Given the description of an element on the screen output the (x, y) to click on. 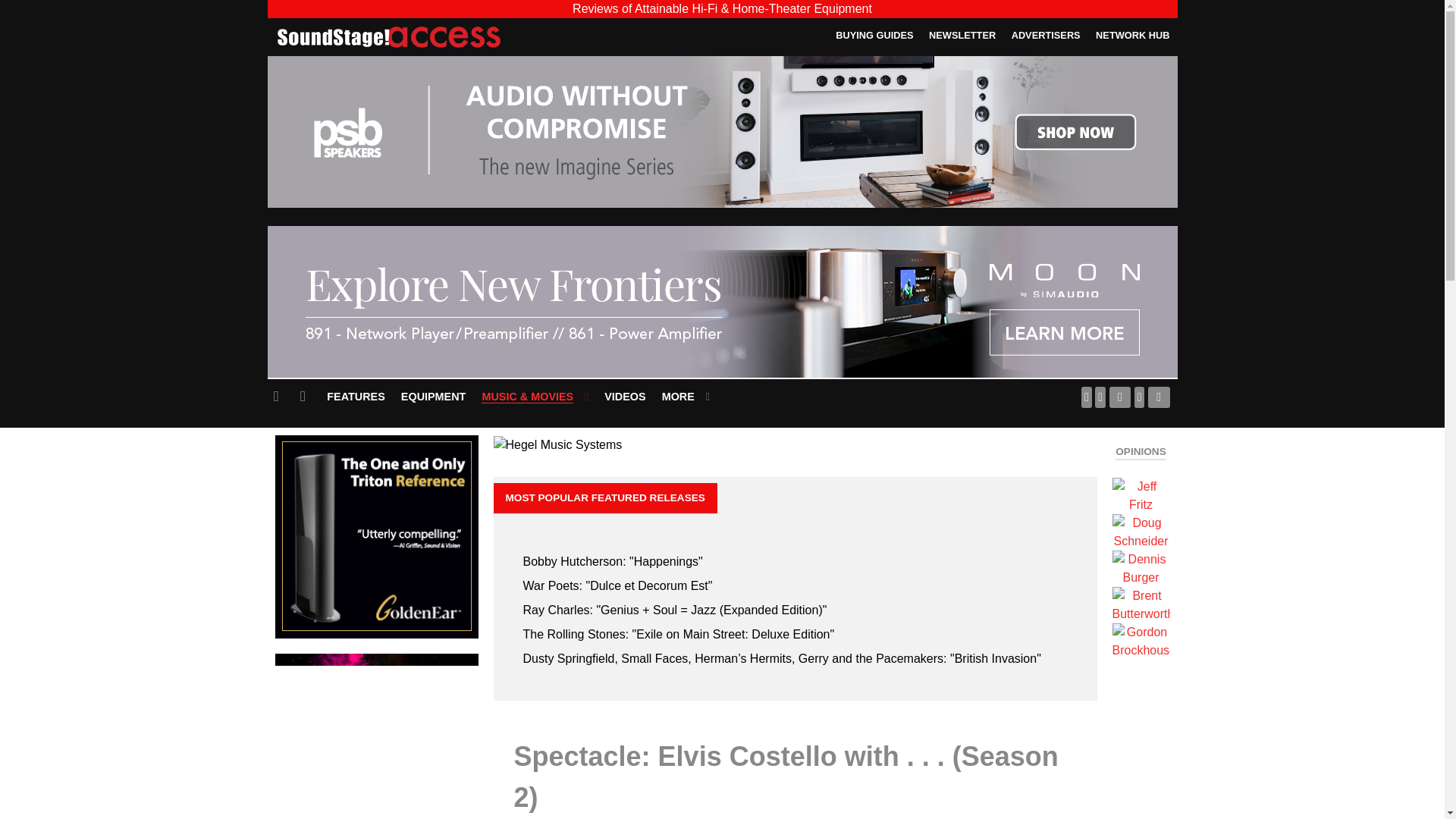
Advertisers (1045, 34)
Newsletter (961, 34)
Network Hub (1132, 34)
BUYING GUIDES (873, 34)
MORE (685, 396)
Home (278, 395)
VIDEOS (624, 396)
NETWORK HUB (1132, 34)
FEATURES (356, 396)
Buying Guides (873, 34)
